Given the description of an element on the screen output the (x, y) to click on. 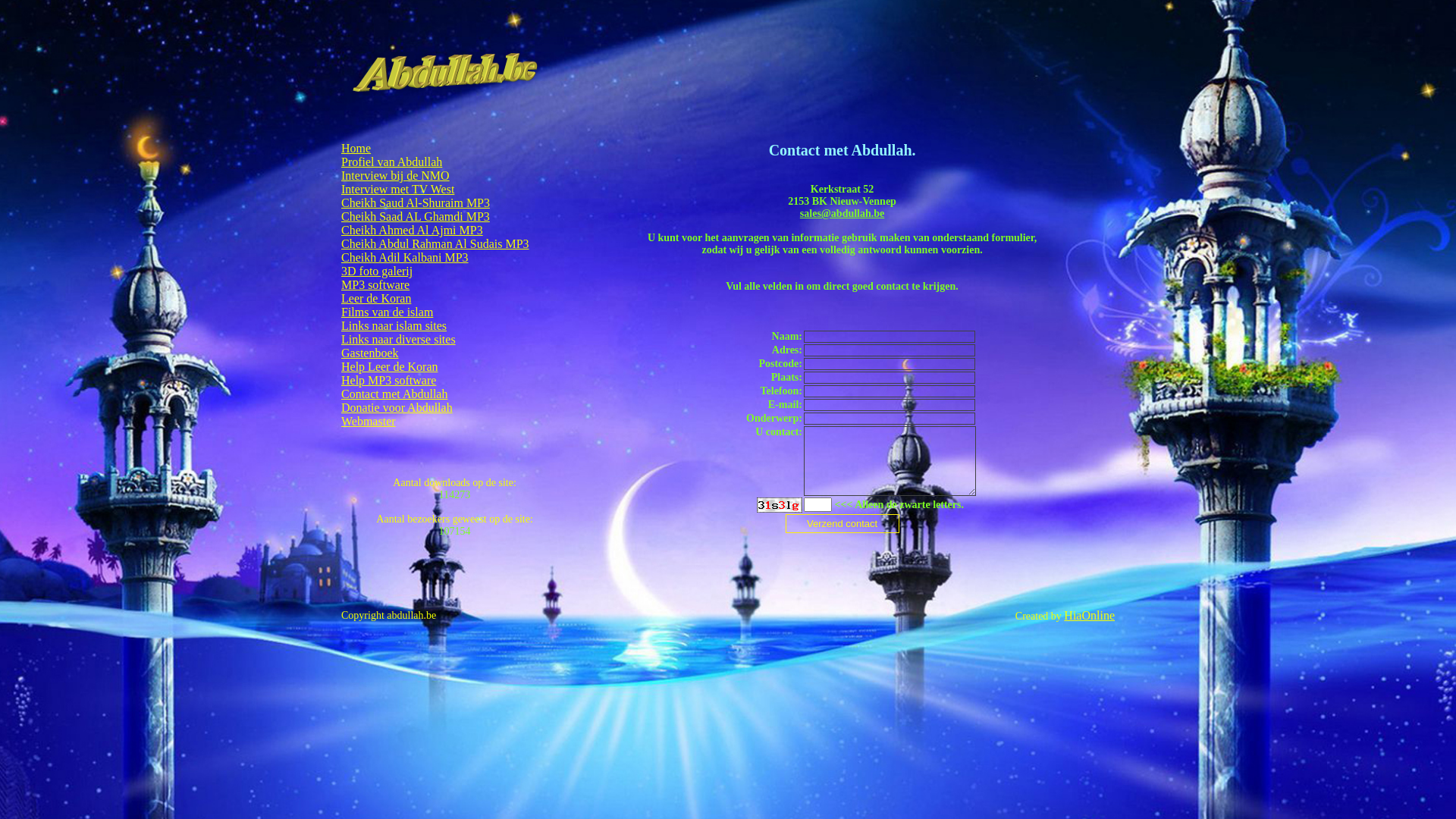
Interview bij de NMO Element type: text (395, 175)
Cheikh Saad AL Ghamdi MP3 Element type: text (415, 216)
Gastenboek Element type: text (369, 352)
Cheikh Adil Kalbani MP3 Element type: text (404, 257)
sales@abdullah.be Element type: text (842, 213)
Profiel van Abdullah Element type: text (391, 161)
Help MP3 software Element type: text (388, 379)
Links naar diverse sites Element type: text (398, 338)
3D foto galerij Element type: text (376, 270)
MP3 software Element type: text (375, 284)
Links naar islam sites Element type: text (393, 325)
Donatie voor Abdullah Element type: text (396, 407)
Films van de islam Element type: text (387, 311)
Interview met TV West Element type: text (397, 188)
Contact met Abdullah Element type: text (394, 393)
Home Element type: text (355, 147)
Webmaster Element type: text (368, 420)
Cheikh Saud Al-Shuraim MP3 Element type: text (415, 202)
Cheikh Abdul Rahman Al Sudais MP3 Element type: text (435, 243)
HiaOnline Element type: text (1088, 614)
Help Leer de Koran Element type: text (389, 366)
Verzend contact Element type: text (842, 523)
Cheikh Ahmed Al Ajmi MP3 Element type: text (412, 229)
Leer de Koran Element type: text (376, 297)
